Given the description of an element on the screen output the (x, y) to click on. 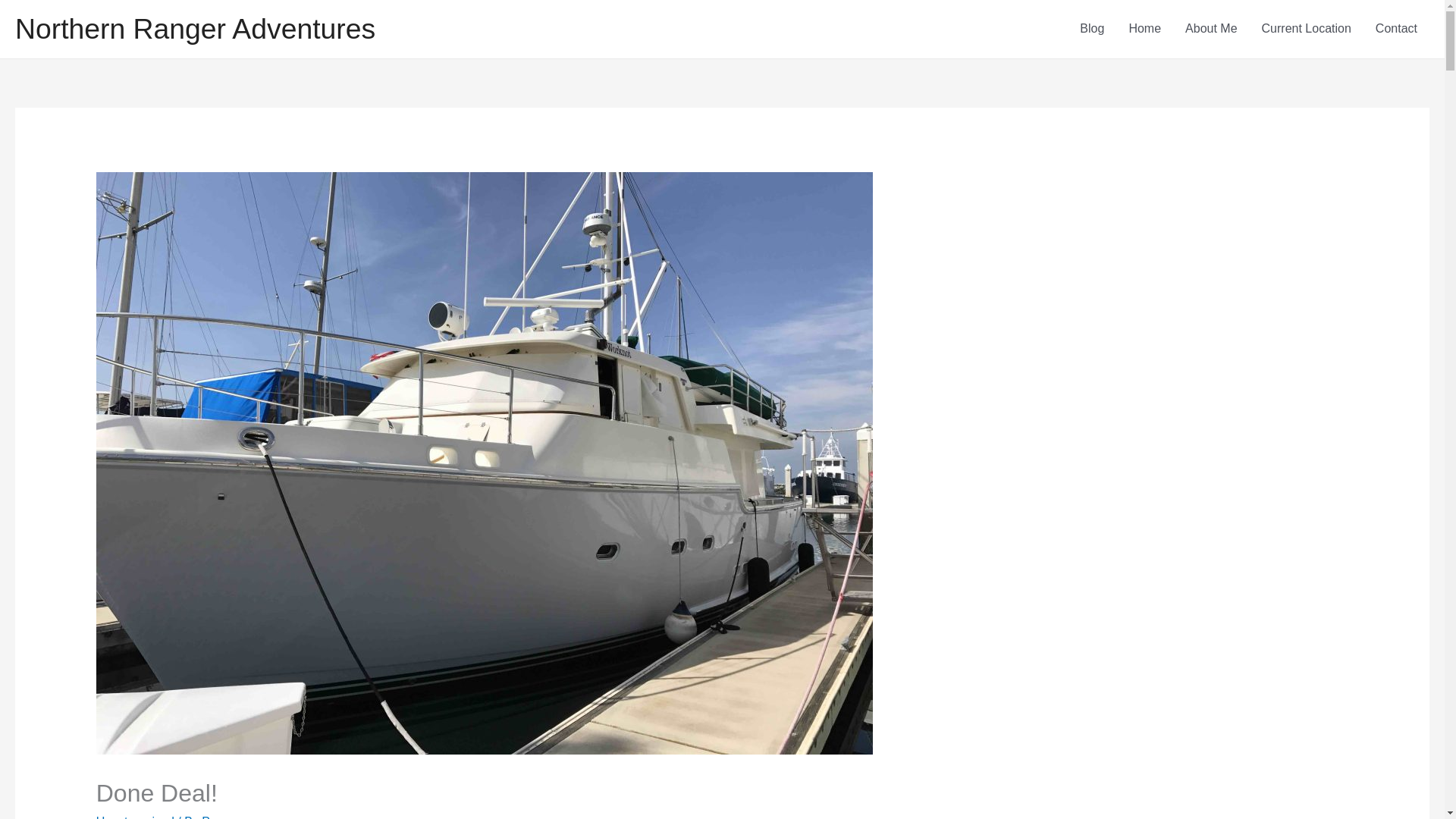
About Me (1211, 29)
View all posts by Penny (218, 816)
Home (1144, 29)
Uncategorized (135, 816)
Penny (218, 816)
Current Location (1305, 29)
Contact (1395, 29)
Northern Ranger Adventures (194, 29)
